Given the description of an element on the screen output the (x, y) to click on. 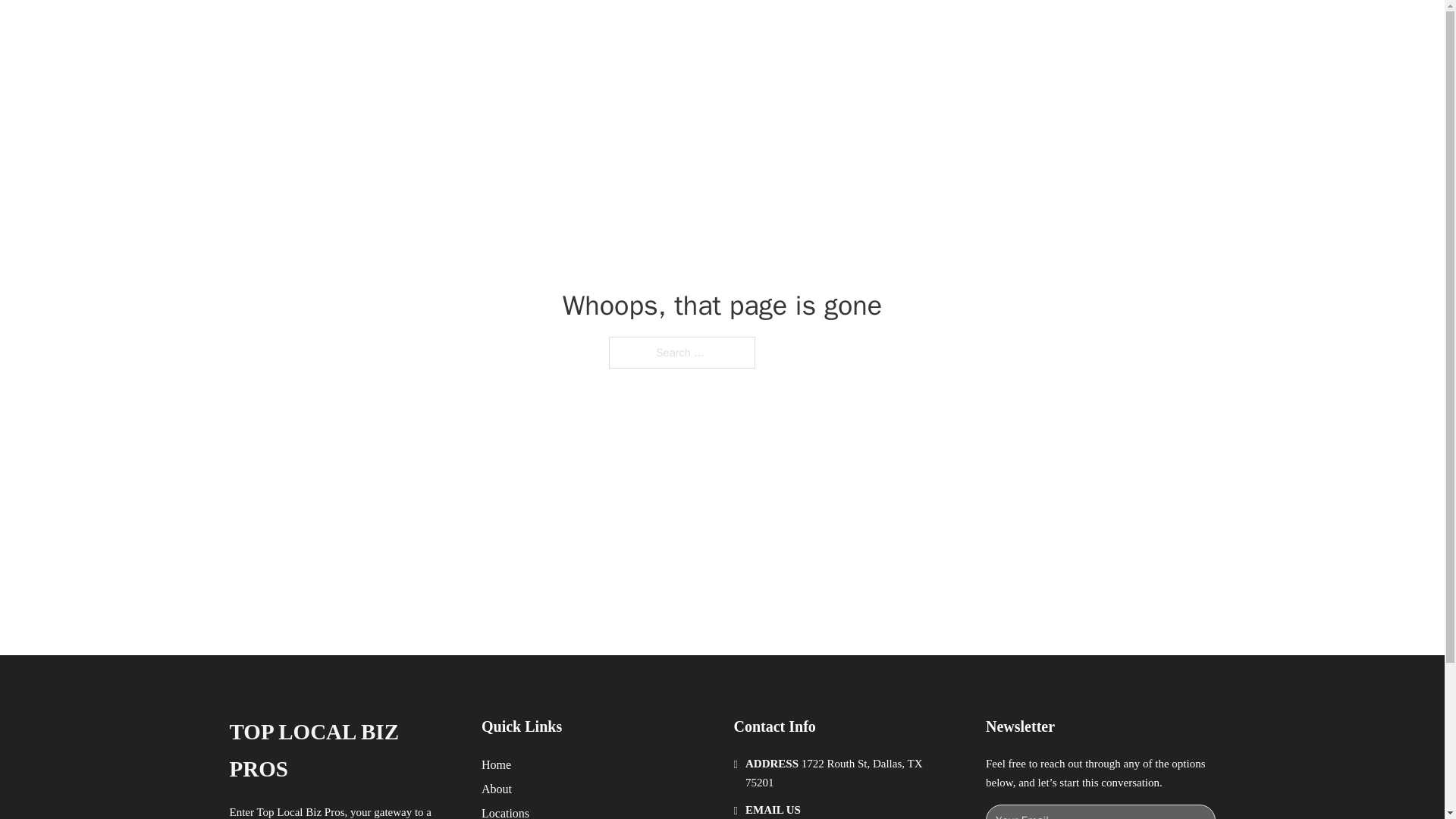
TOP LOCAL BIZ PROS (415, 28)
About (496, 788)
Home (496, 764)
HOME (919, 29)
TOP LOCAL BIZ PROS (343, 750)
Locations (505, 811)
LOCATIONS (990, 29)
